Given the description of an element on the screen output the (x, y) to click on. 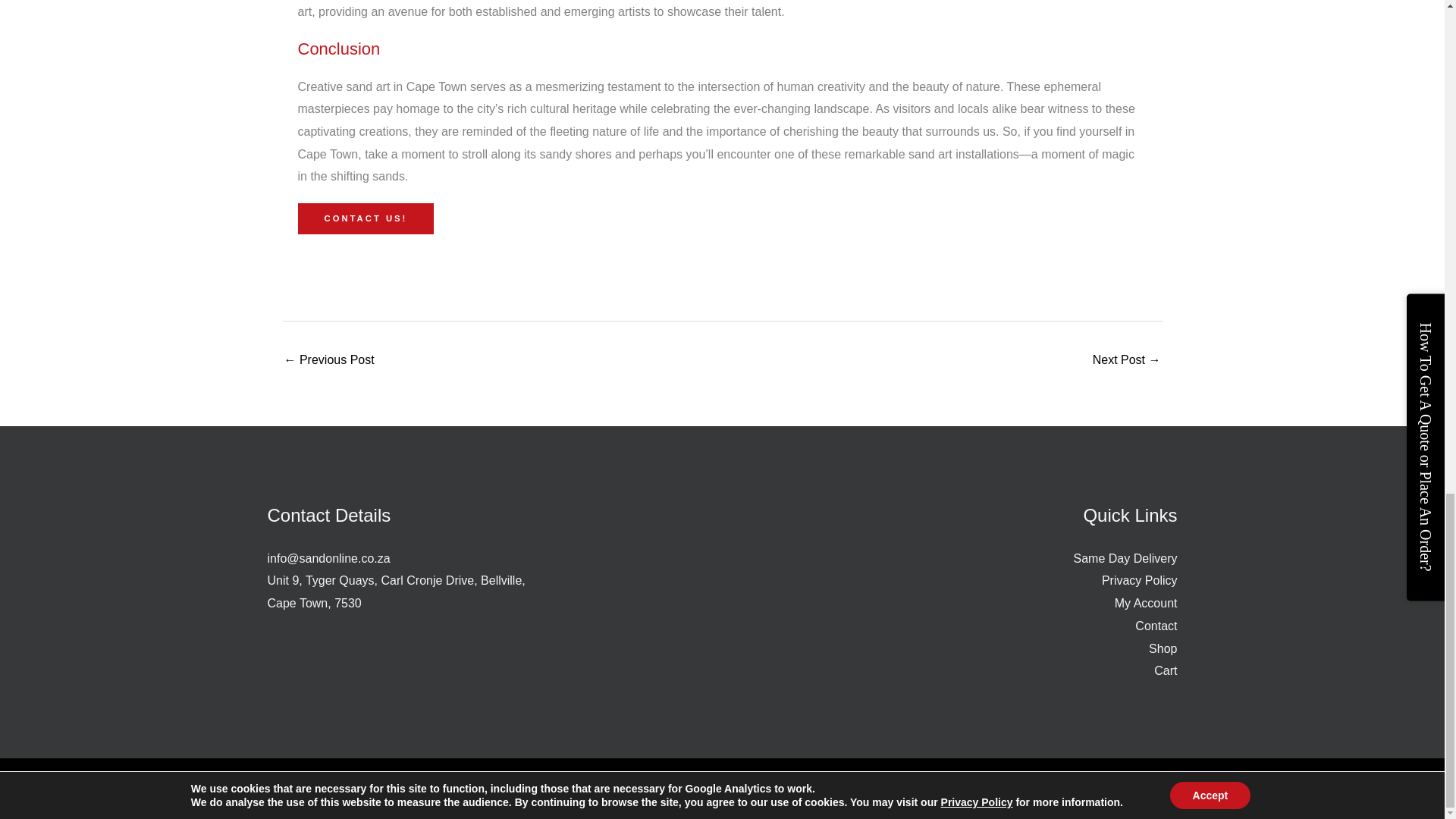
Building sand per metre (1126, 361)
The Beauty and Strength of Building Stone in Western Cape (328, 361)
CONTACT US! (365, 218)
